Given the description of an element on the screen output the (x, y) to click on. 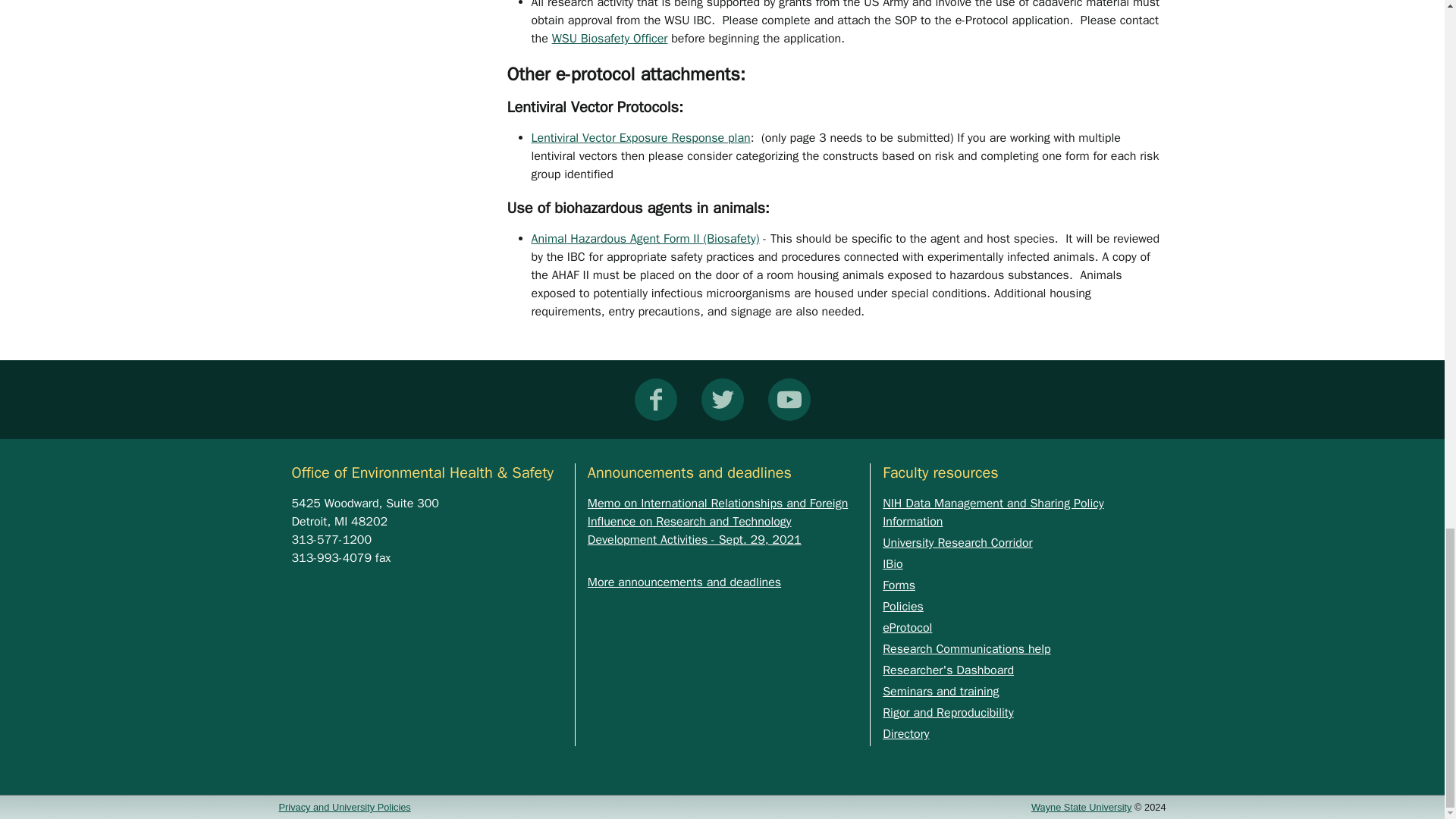
WSU Biosafety Officer (609, 38)
